Given the description of an element on the screen output the (x, y) to click on. 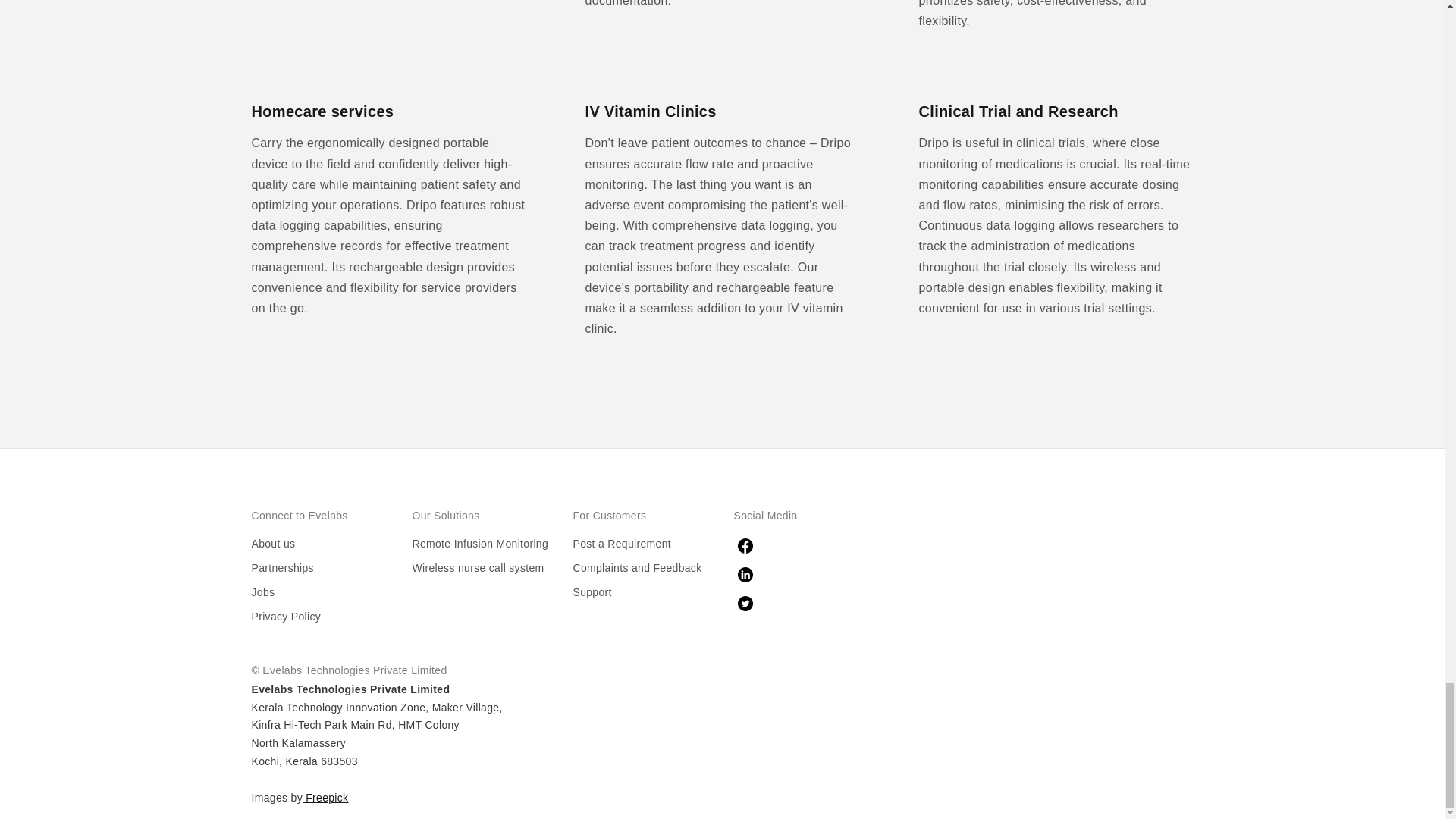
Partnerships (282, 567)
Jobs (263, 592)
Support (592, 592)
Post a Requirement (622, 543)
About us (273, 543)
Remote Infusion Monitoring (480, 543)
Complaints and Feedback (637, 567)
Wireless nurse call system (478, 567)
Privacy Policy (286, 616)
 Freepick (324, 797)
